Given the description of an element on the screen output the (x, y) to click on. 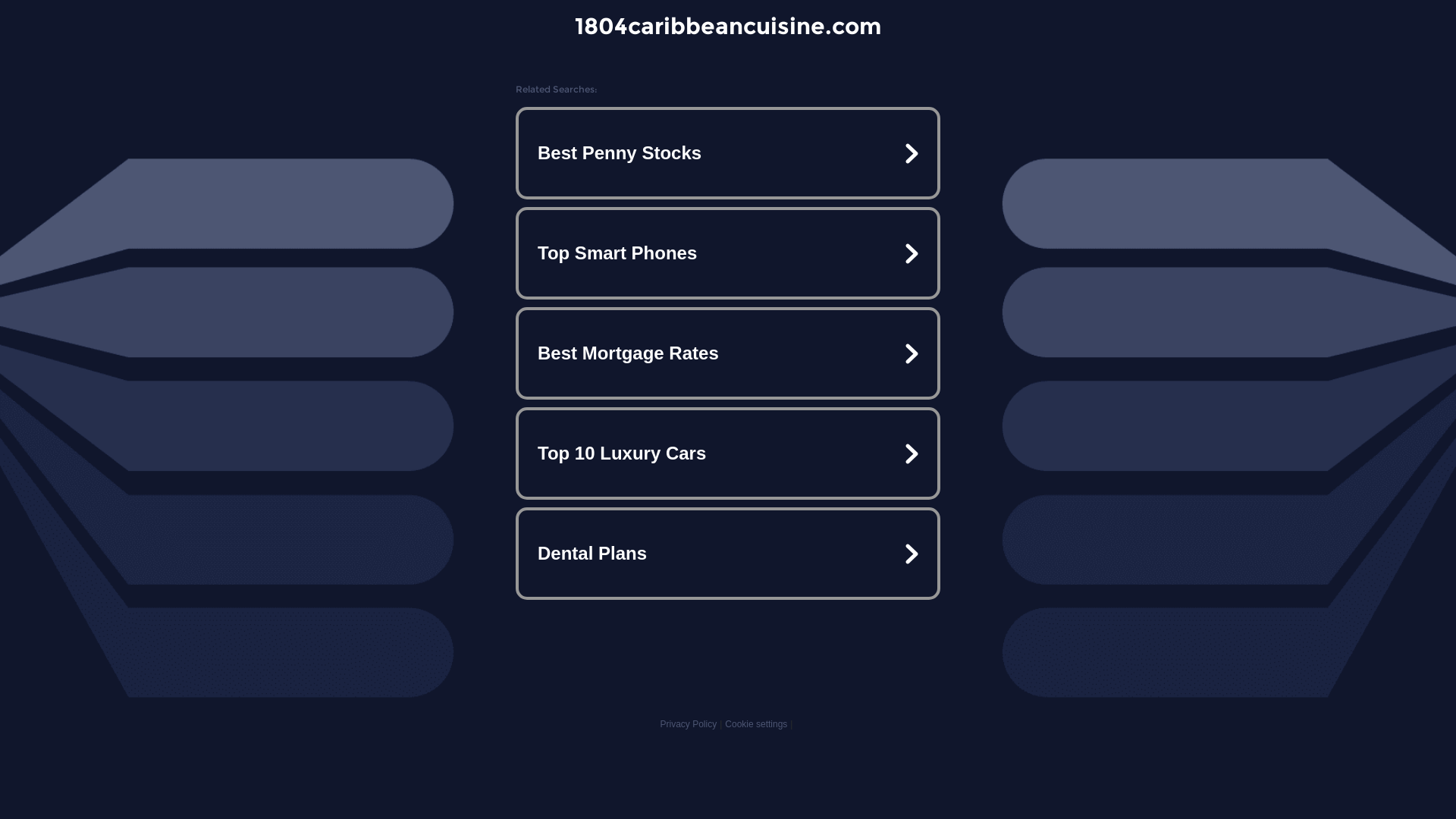
Top 10 Luxury Cars Element type: text (727, 453)
Privacy Policy Element type: text (687, 723)
1804caribbeancuisine.com Element type: text (727, 26)
Cookie settings Element type: text (755, 723)
Dental Plans Element type: text (727, 553)
Top Smart Phones Element type: text (727, 253)
Best Mortgage Rates Element type: text (727, 353)
Best Penny Stocks Element type: text (727, 152)
